Given the description of an element on the screen output the (x, y) to click on. 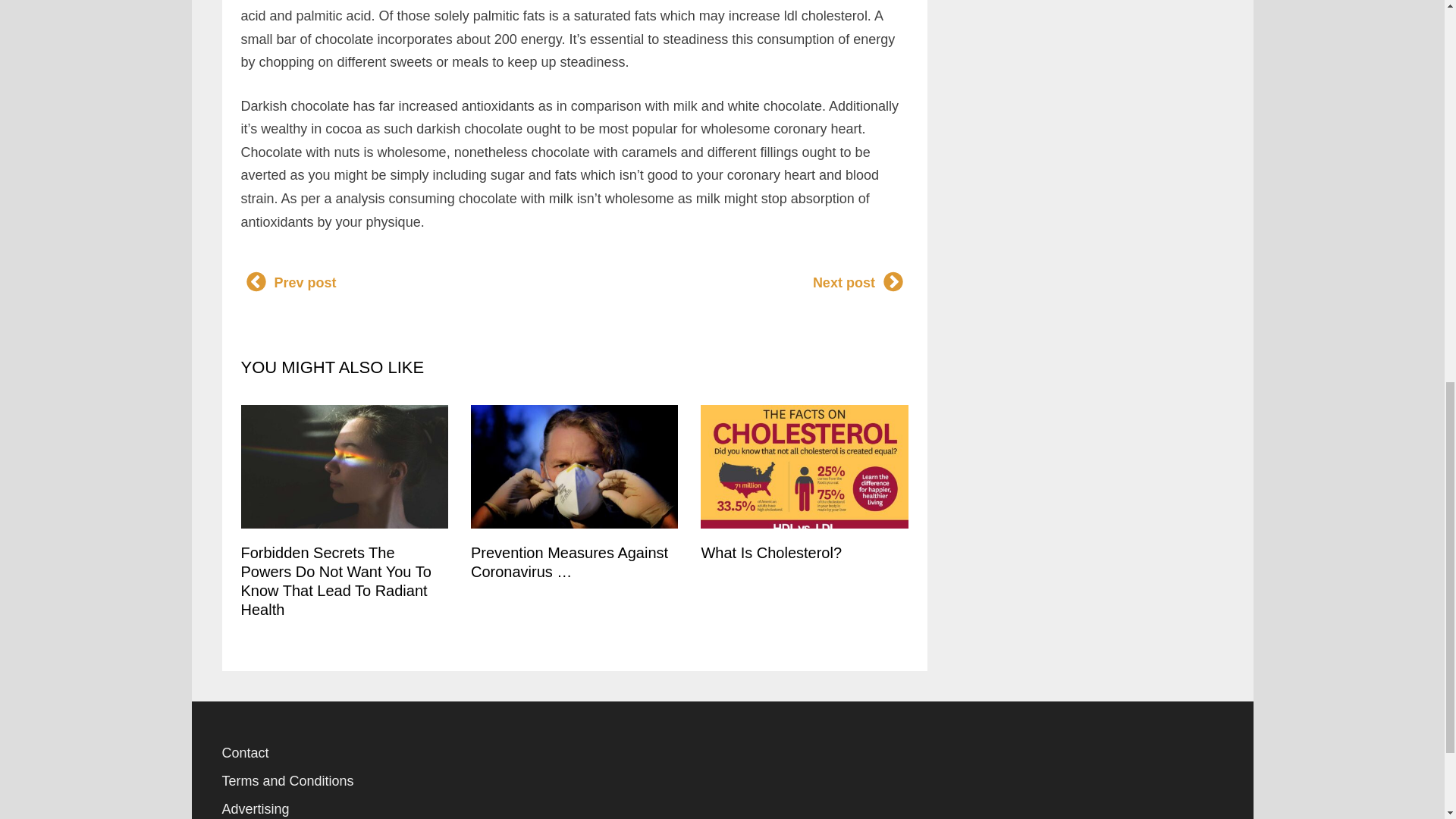
Next post (858, 282)
What Is Cholesterol? (770, 552)
Terms and Conditions (287, 780)
Contact (244, 752)
Prev post (290, 282)
What Is Cholesterol? (770, 552)
